Given the description of an element on the screen output the (x, y) to click on. 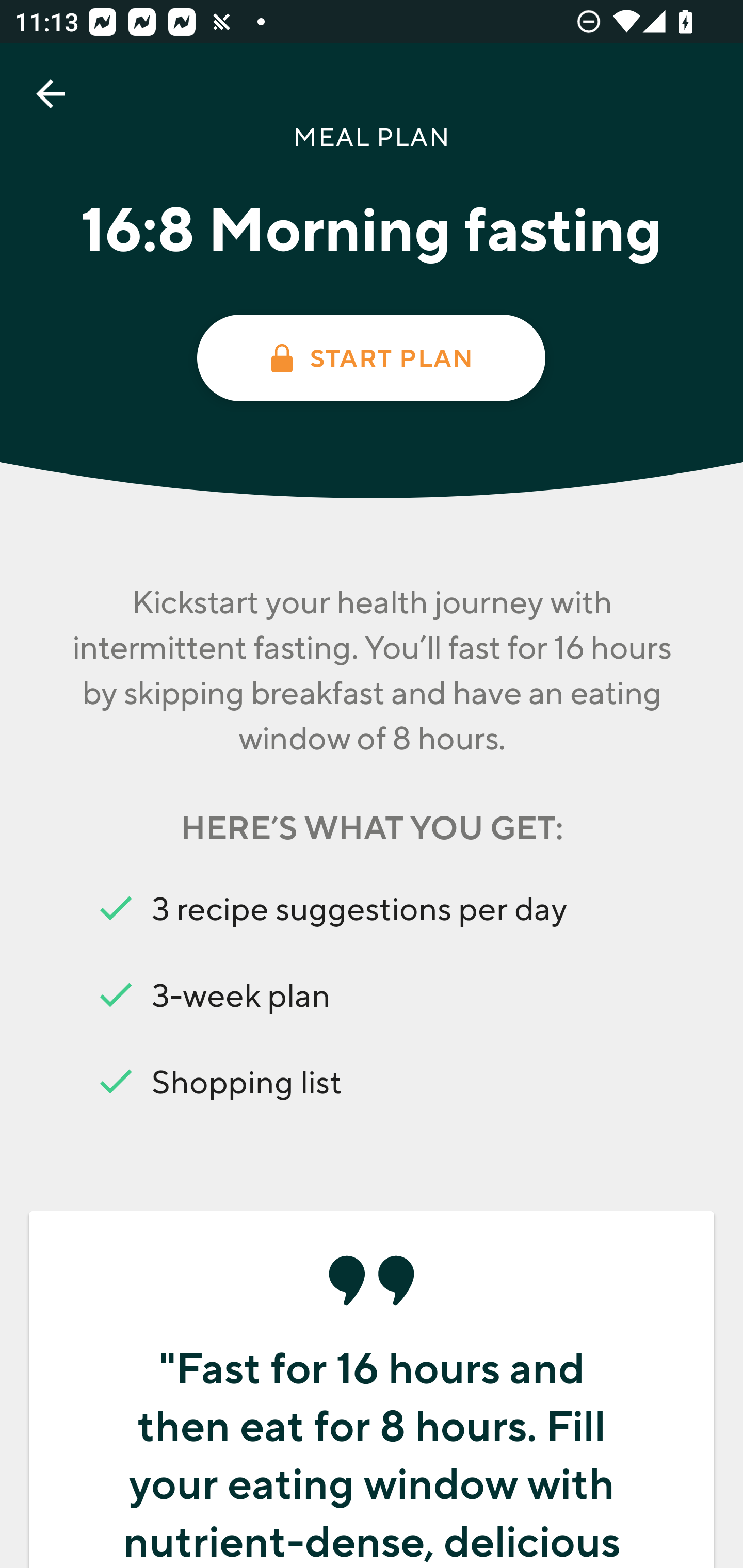
Navigate up (50, 93)
START PLAN (370, 358)
